Given the description of an element on the screen output the (x, y) to click on. 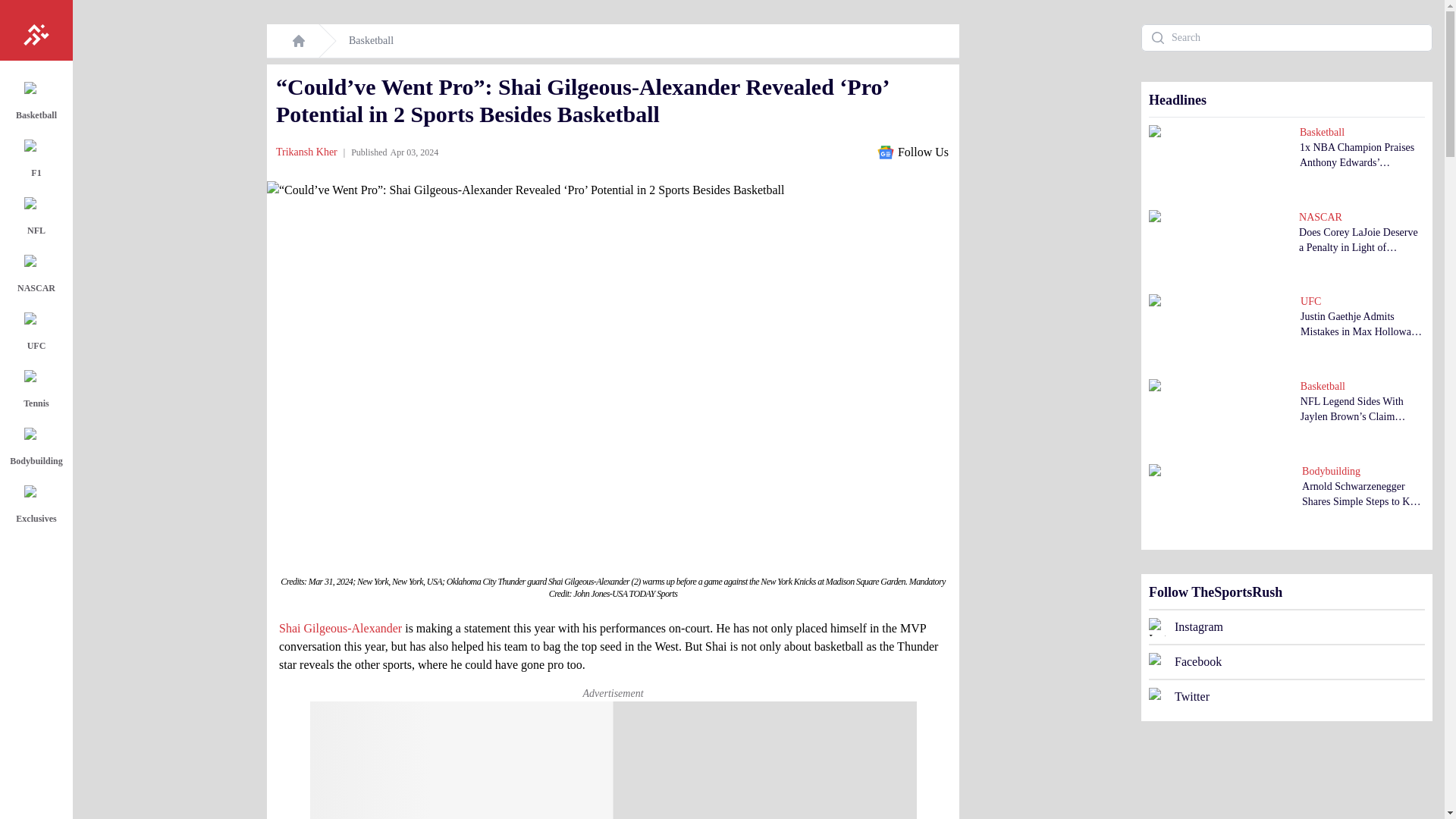
UFC (39, 333)
Facebook (1286, 660)
F1 (39, 160)
Follow Us (911, 152)
Tennis (39, 390)
Home (36, 30)
Exclusives (39, 506)
Exclusives (39, 506)
Home (298, 40)
Bodybuilding (39, 448)
NASCAR (39, 275)
NFL (39, 217)
F1 (39, 160)
